Given the description of an element on the screen output the (x, y) to click on. 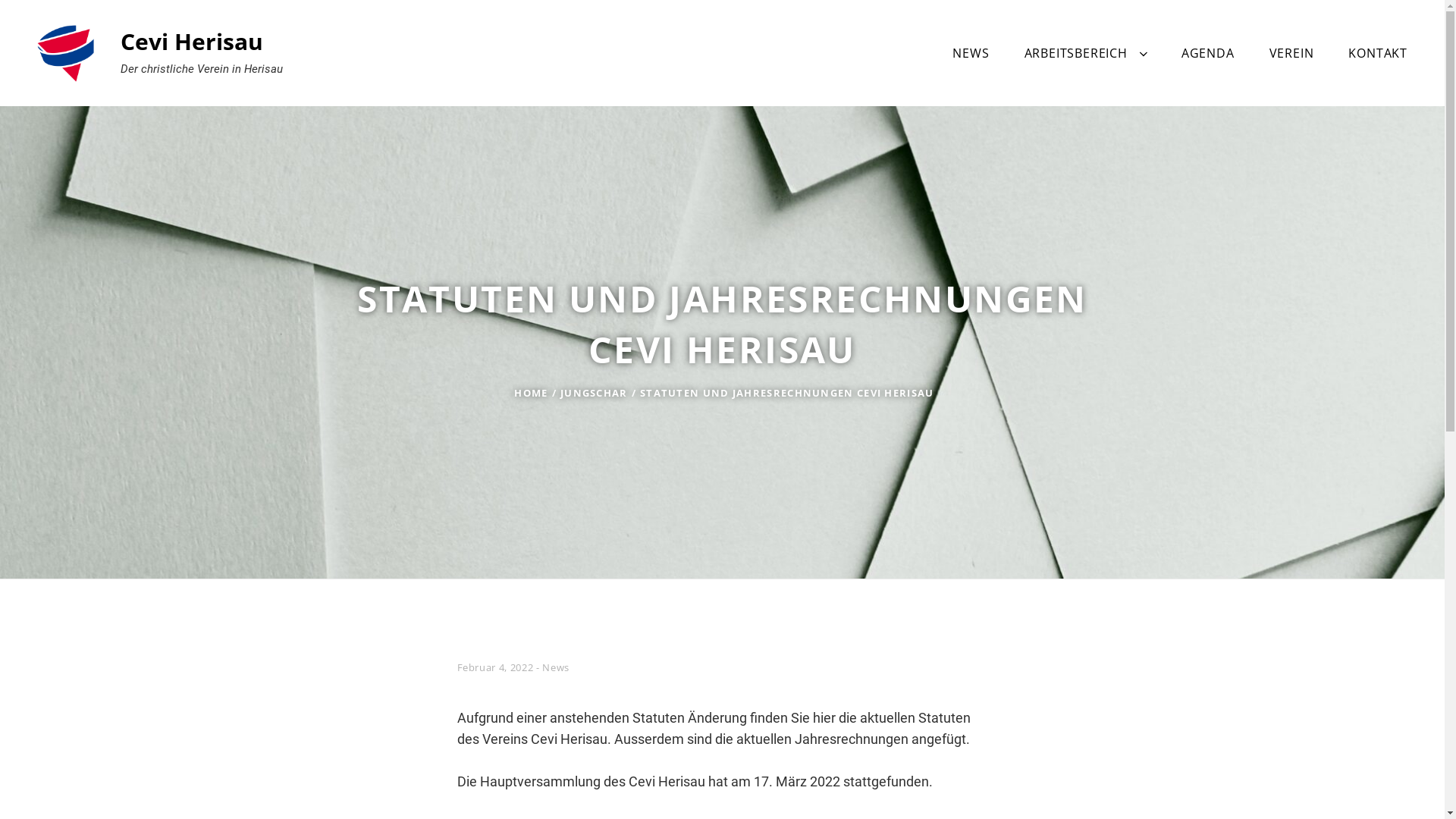
JUNGSCHAR Element type: text (593, 392)
AGENDA Element type: text (1207, 53)
Cevi Herisau Element type: text (191, 40)
Februar 4, 2022 Element type: text (494, 667)
ARBEITSBEREICH Element type: text (1085, 53)
KONTAKT Element type: text (1377, 53)
VEREIN Element type: text (1291, 53)
HOME Element type: text (530, 392)
NEWS Element type: text (970, 53)
